Given the description of an element on the screen output the (x, y) to click on. 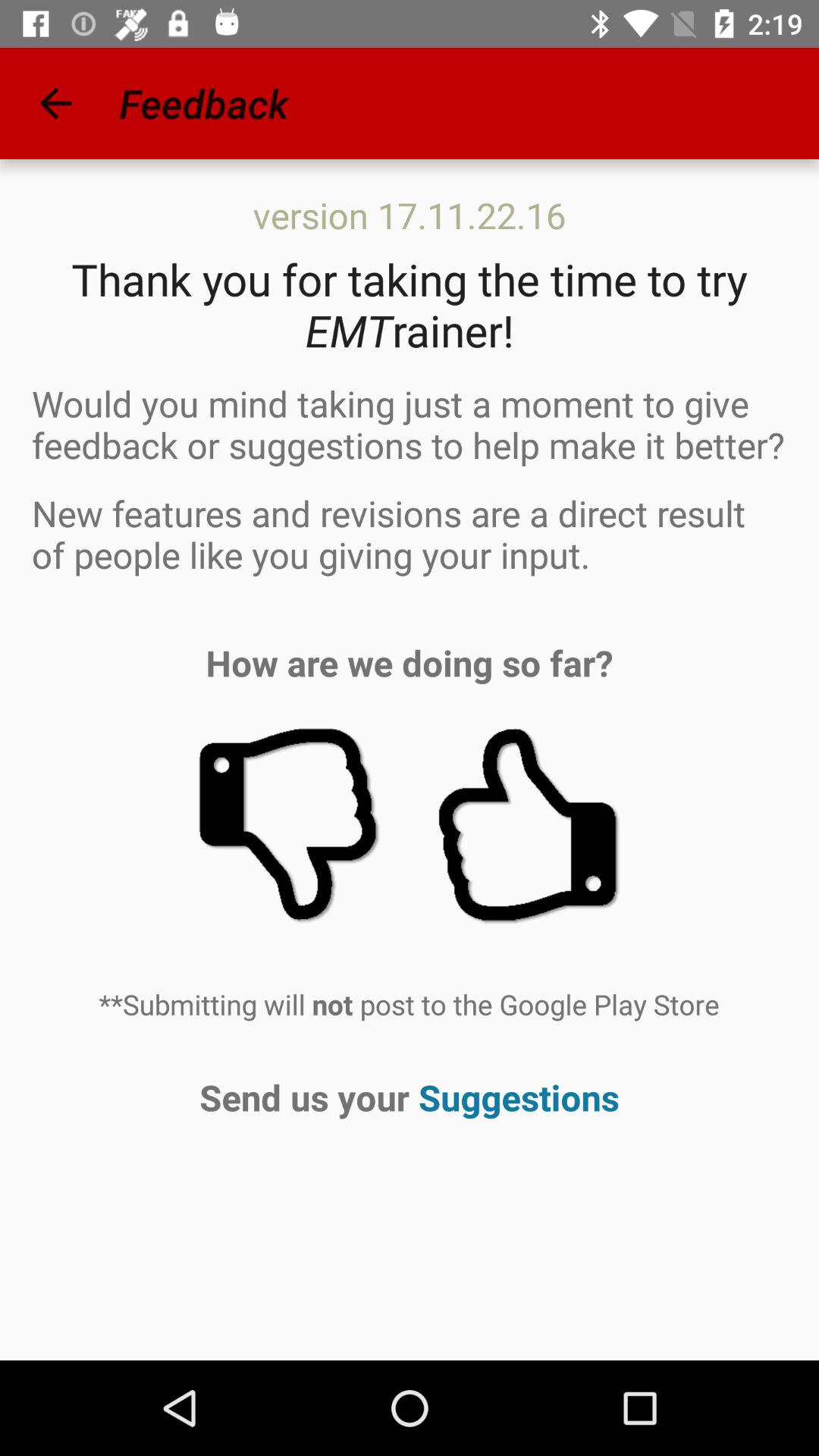
turn off the icon next to the feedback app (55, 103)
